Given the description of an element on the screen output the (x, y) to click on. 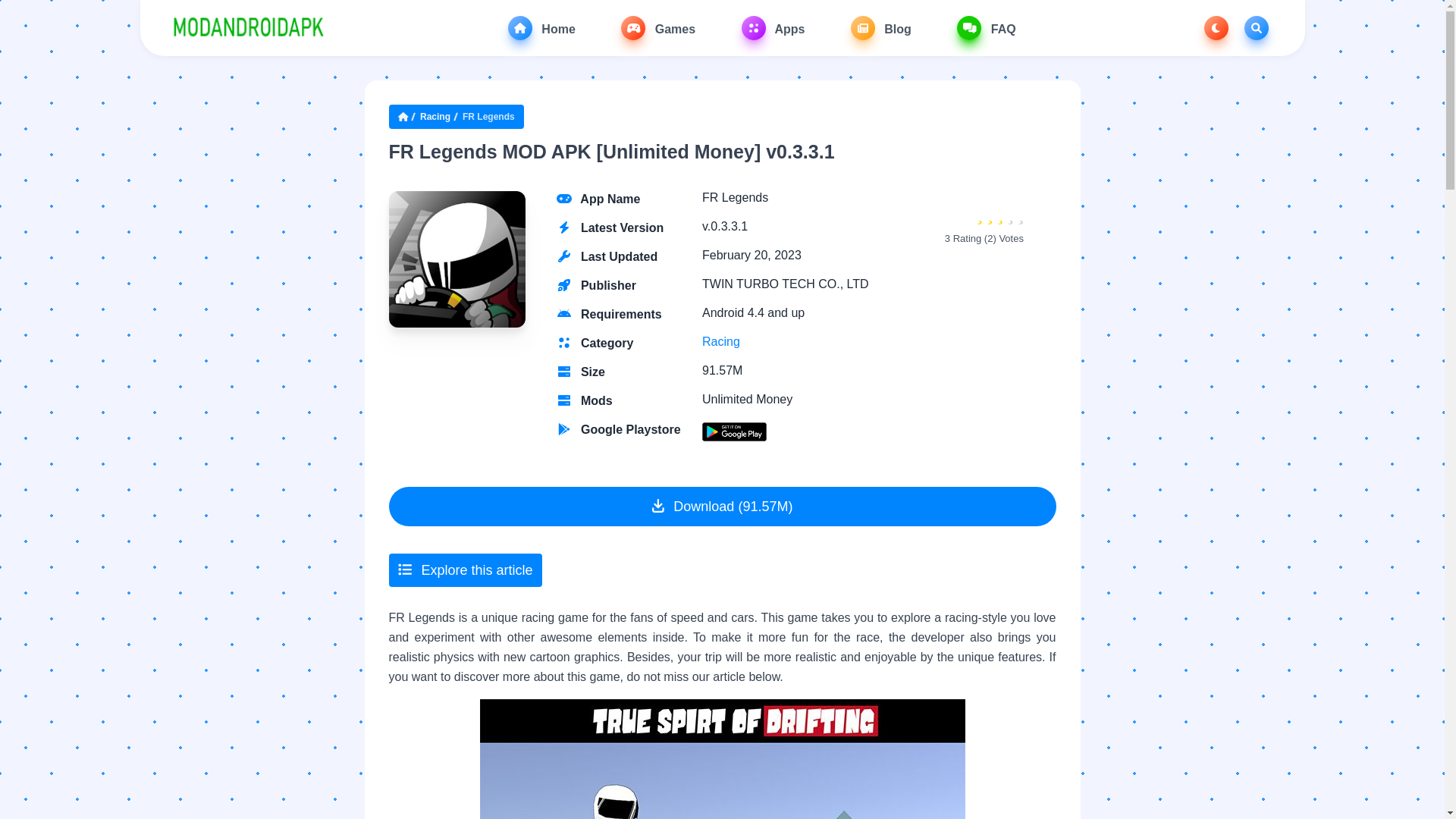
Games (658, 27)
Dark Mode (1216, 27)
FAQ (985, 27)
Apps (773, 27)
Racing (435, 116)
Explore this article (464, 570)
Blog (880, 27)
Racing (720, 341)
Home (541, 27)
Search (1255, 27)
